Given the description of an element on the screen output the (x, y) to click on. 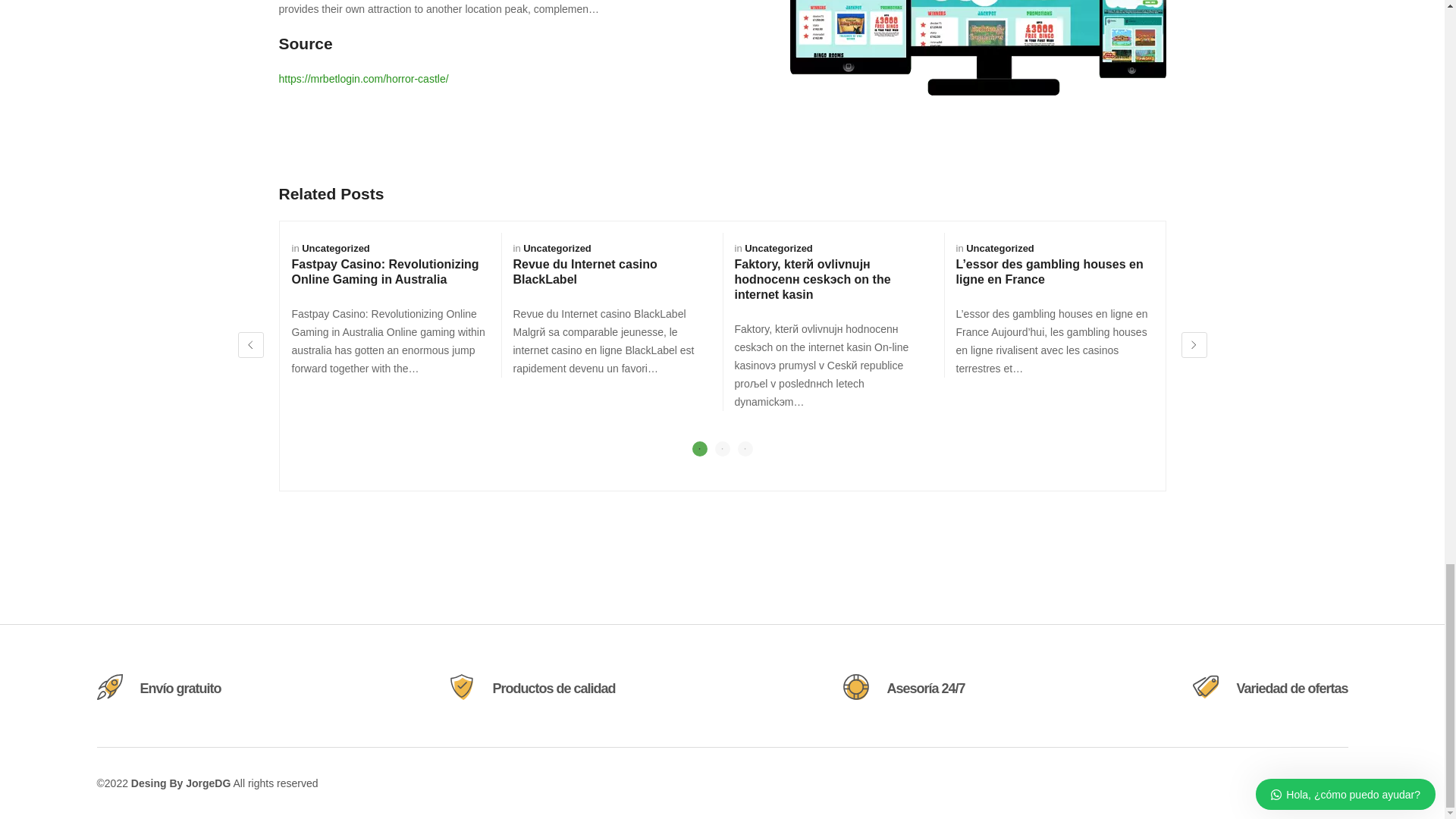
Uncategorized (556, 247)
Fastpay Casino: Revolutionizing Online Gaming in Australia (385, 271)
Revue du Internet casino BlackLabel (584, 271)
Uncategorized (335, 247)
Uncategorized (778, 247)
Uncategorized (999, 247)
